Given the description of an element on the screen output the (x, y) to click on. 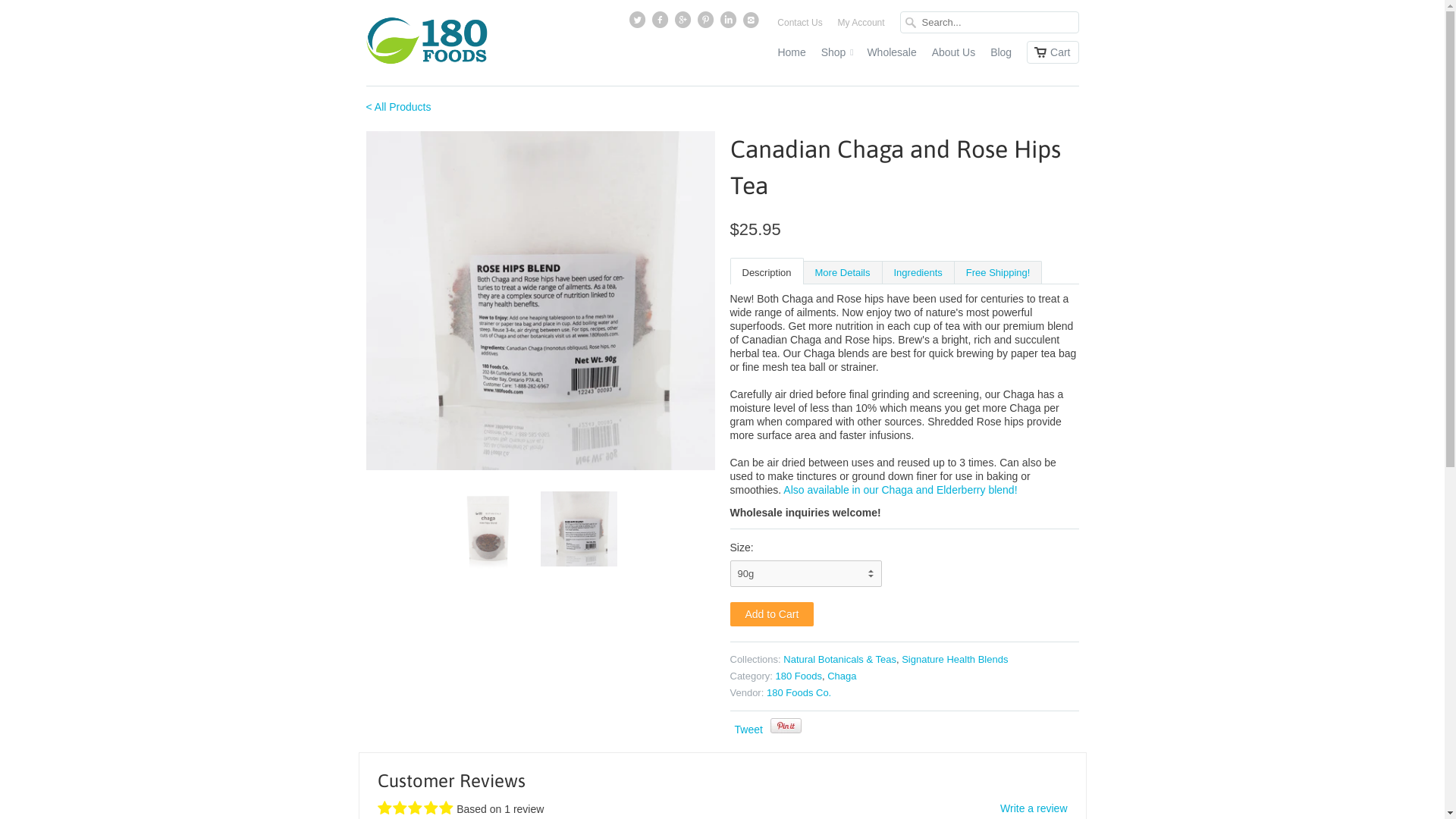
Description Element type: text (766, 270)
Ingredients Element type: text (917, 271)
< All Products Element type: text (397, 106)
180 Foods Co. on LinkedIn Element type: hover (729, 23)
Cart Element type: text (1052, 51)
Wholesale Element type: text (891, 55)
Chaga Element type: text (841, 675)
Canadian Chaga Rose HipsTea Blend, 90g Front - 180 Foods Element type: hover (190, 305)
180 Foods Co. on Pinterest Element type: hover (706, 23)
Natural Botanicals & Teas Element type: text (839, 659)
180 Foods Co. on Twitter Element type: hover (639, 23)
Add to Cart Element type: text (771, 614)
Home Element type: text (791, 55)
My Account Element type: text (860, 26)
Canadian Chaga Rose HipsTea Blend, 90g Back - 180 Foods Element type: hover (539, 300)
More Details Element type: text (842, 271)
About Us Element type: text (953, 55)
180 Foods Co. on Google+ Element type: hover (683, 23)
180 Foods Co. Element type: hover (425, 42)
Pin It Element type: text (785, 725)
Contact Us Element type: text (799, 26)
Tweet Element type: text (748, 729)
Blog Element type: text (1000, 55)
Free Shipping! Element type: text (997, 271)
180 Foods Element type: text (798, 675)
180 Foods Co. Element type: text (798, 692)
Write a review Element type: text (1033, 808)
180 Foods Co. on Instagram Element type: hover (752, 23)
Also available in our Chaga and Elderberry blend! Element type: text (899, 489)
Signature Health Blends Element type: text (954, 659)
180 Foods Co. on Facebook Element type: hover (661, 23)
